Given the description of an element on the screen output the (x, y) to click on. 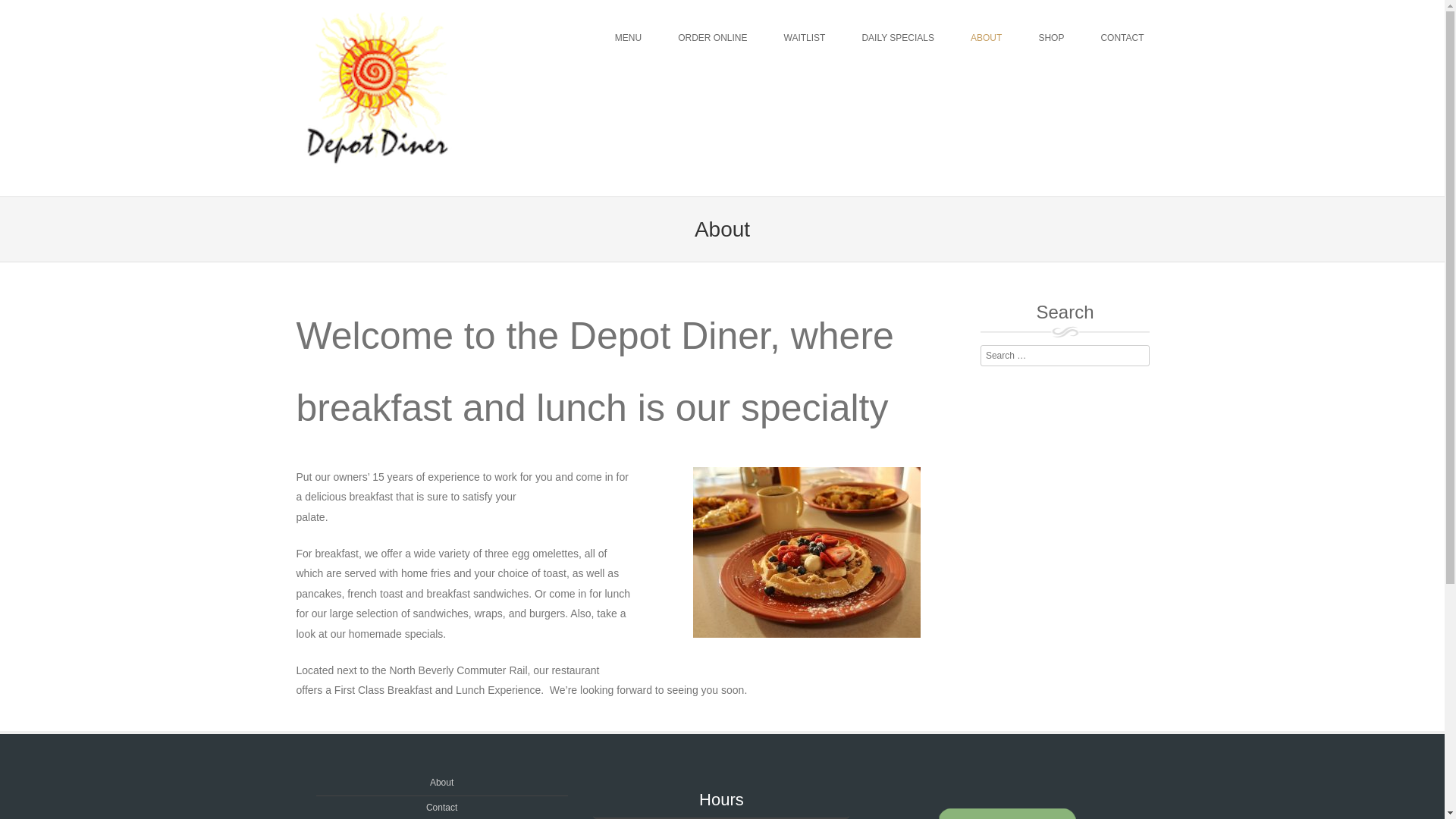
Depot Diner (376, 185)
CONTACT (1121, 38)
Skip to content (561, 38)
ABOUT (986, 38)
DAILY SPECIALS (897, 38)
About (440, 782)
WAITLIST (804, 38)
Contact (441, 807)
Search (86, 14)
ORDER ONLINE (712, 38)
